Given the description of an element on the screen output the (x, y) to click on. 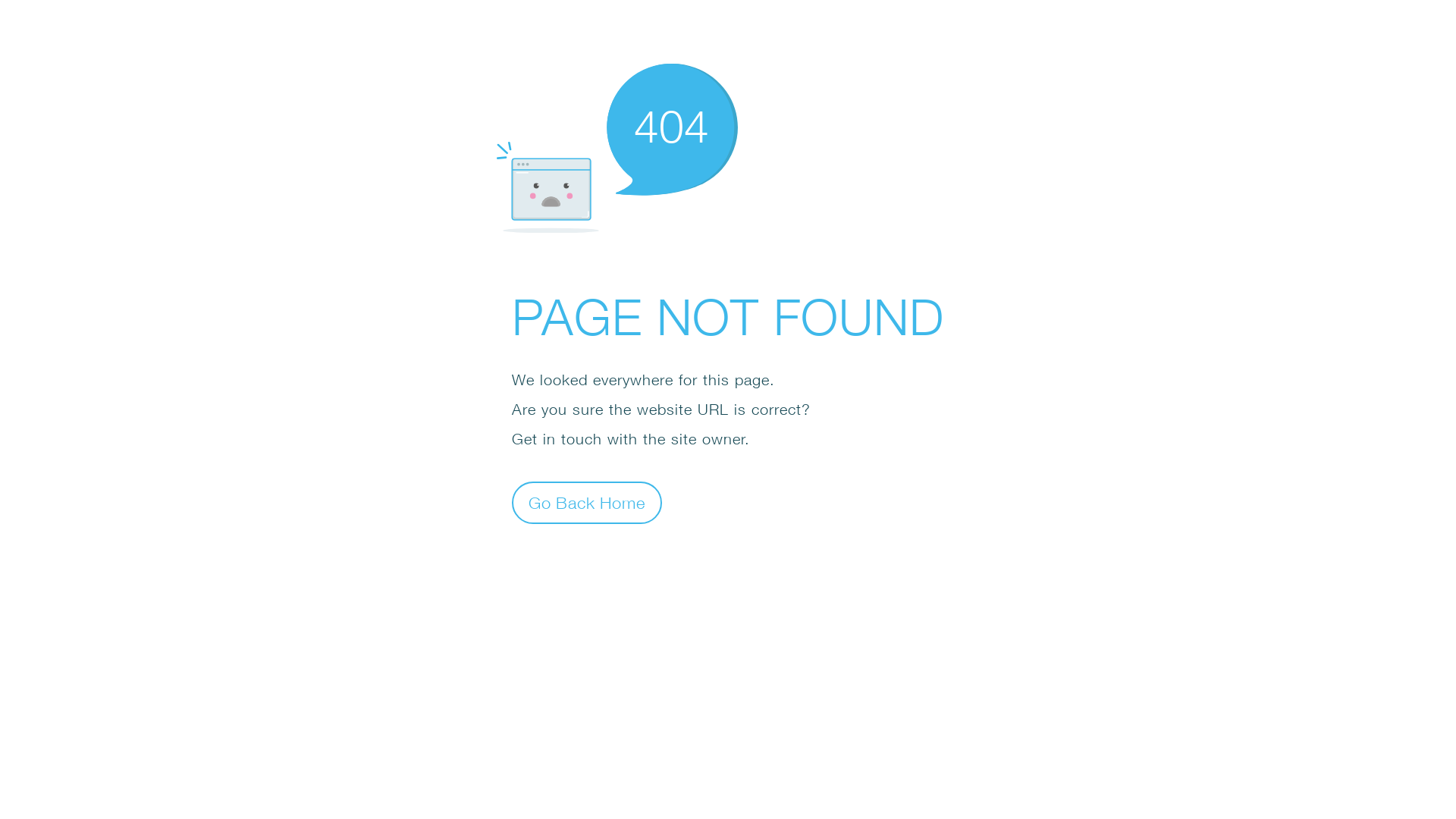
Go Back Home Element type: text (586, 502)
